Given the description of an element on the screen output the (x, y) to click on. 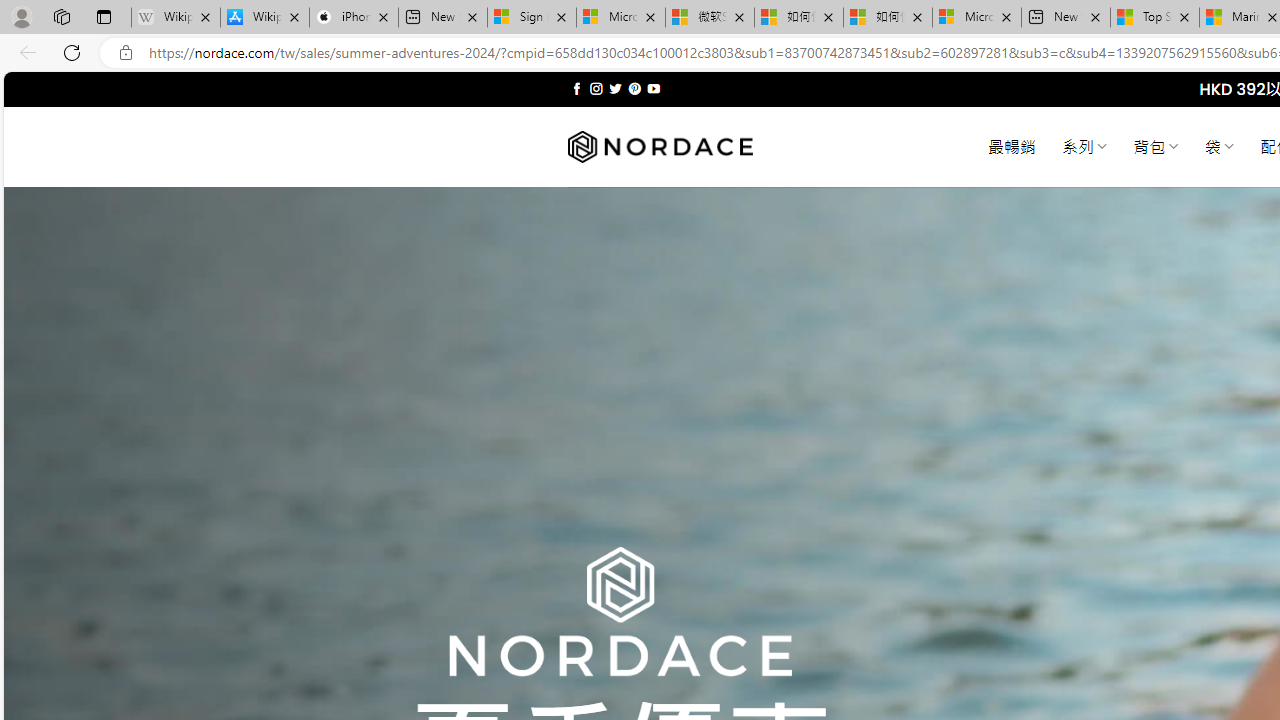
Follow on Instagram (596, 88)
